Given the description of an element on the screen output the (x, y) to click on. 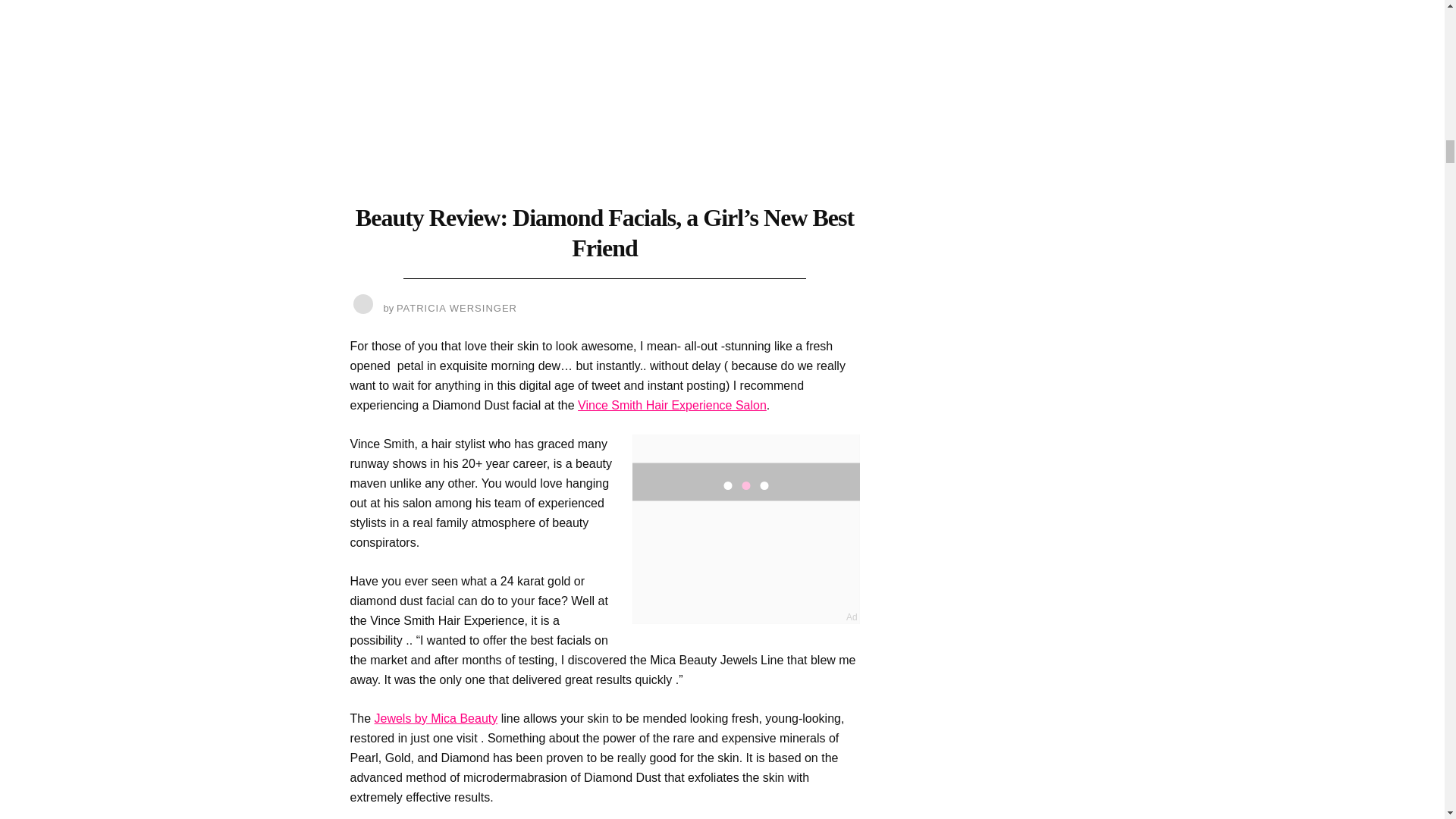
Jewels by Mica Beauty (435, 717)
Vince Smith Hair Experience Salon (672, 404)
